Given the description of an element on the screen output the (x, y) to click on. 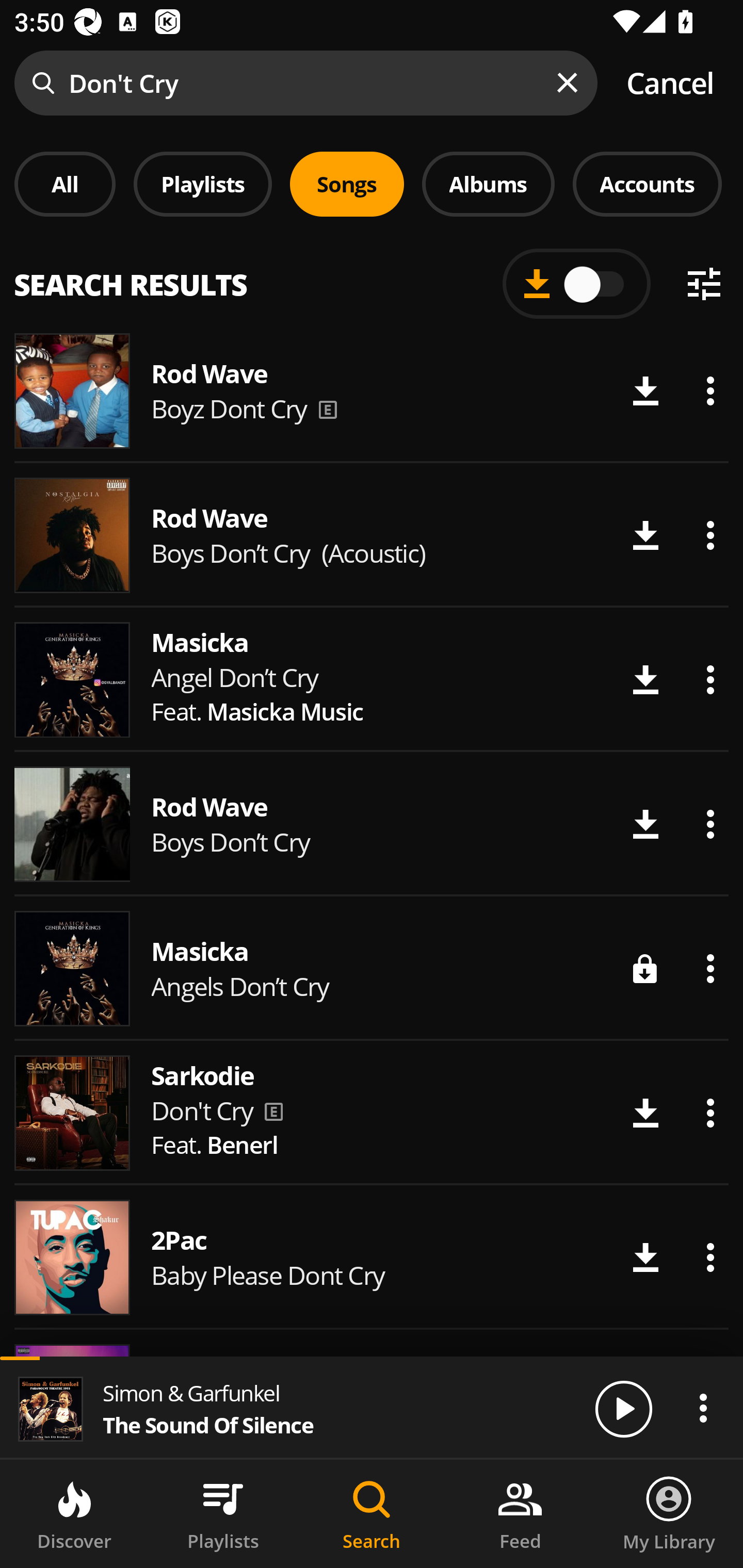
Don't Cry Cancel (371, 82)
Cancel (670, 82)
All (64, 184)
Playlists (202, 184)
Songs (346, 184)
Albums (488, 184)
Accounts (647, 184)
All Country Afrosounds Pop Caribbean (371, 275)
Pop (529, 288)
Download (644, 391)
Actions (710, 391)
Download (644, 535)
Actions (710, 535)
Download (644, 679)
Actions (710, 679)
Download (644, 823)
Actions (710, 823)
Download (644, 968)
Actions (710, 968)
Download (644, 1113)
Actions (710, 1113)
Download (644, 1257)
Actions (710, 1257)
Actions (703, 1407)
Play/Pause (623, 1408)
Discover (74, 1513)
Playlists (222, 1513)
Search (371, 1513)
Feed (519, 1513)
My Library (668, 1513)
